Given the description of an element on the screen output the (x, y) to click on. 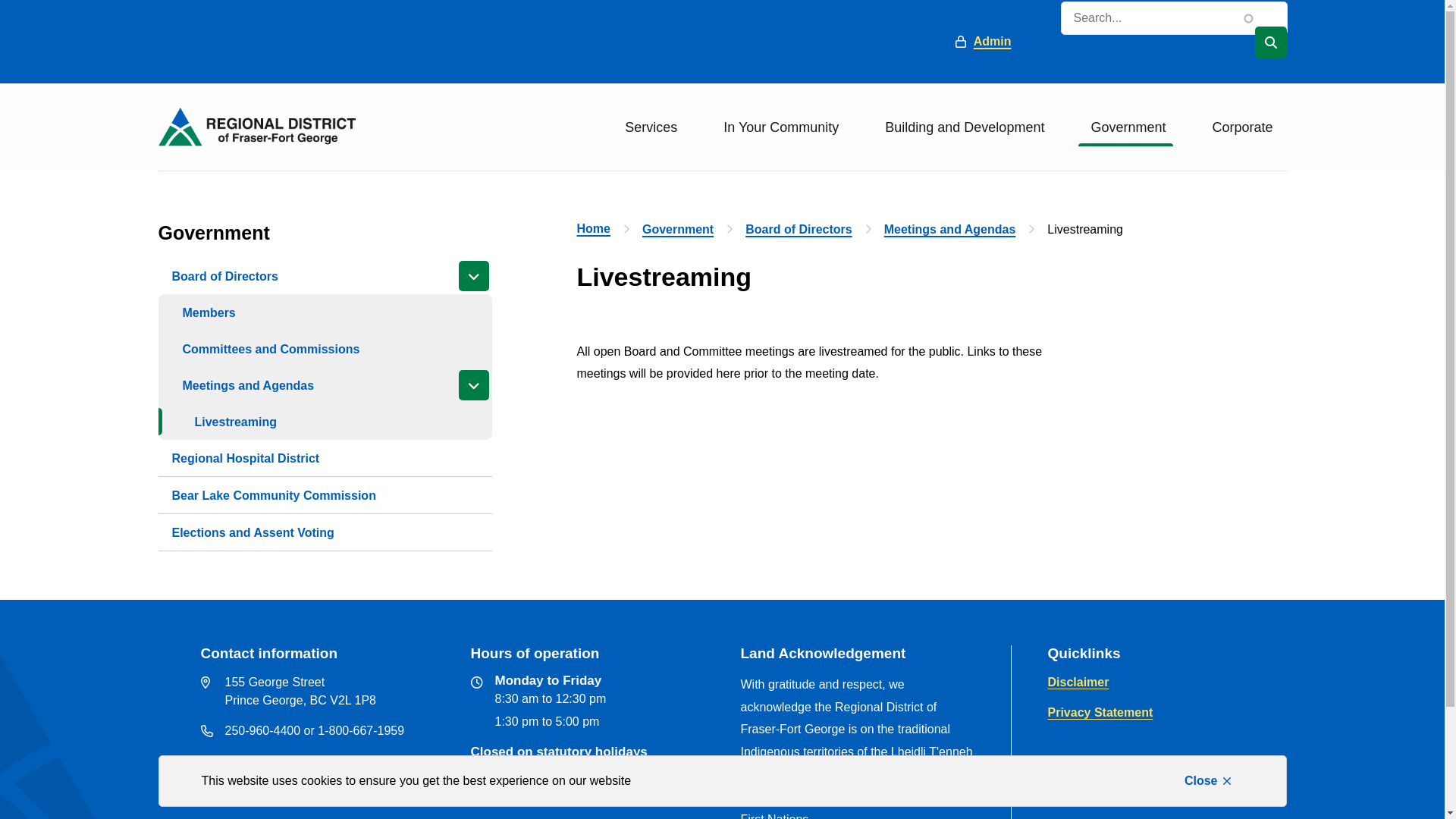
Search Element type: text (1270, 42)
Livestreaming Element type: text (223, 421)
Government Element type: text (677, 228)
Home Element type: text (592, 228)
Building and Development Element type: text (961, 126)
In Your Community Element type: text (778, 126)
Skip to main content Element type: text (0, 0)
Regional Hospital District Element type: text (244, 457)
Privacy Statement Element type: text (1100, 712)
Corporate Element type: text (1239, 126)
Elections and Assent Voting Element type: text (252, 532)
Disclaimer Element type: text (1078, 681)
Meetings and Agendas Element type: text (242, 385)
Board of Directors Element type: text (224, 275)
Bear Lake Community Commission Element type: text (273, 494)
Committees and Commissions Element type: text (265, 348)
Meetings and Agendas Element type: text (950, 228)
Close Element type: text (1208, 780)
Government Element type: text (1125, 126)
district@rdffg.bc.ca Element type: text (281, 760)
Admin Element type: text (983, 40)
Members Element type: text (202, 312)
Services Element type: text (648, 126)
Board of Directors Element type: text (798, 228)
